Given the description of an element on the screen output the (x, y) to click on. 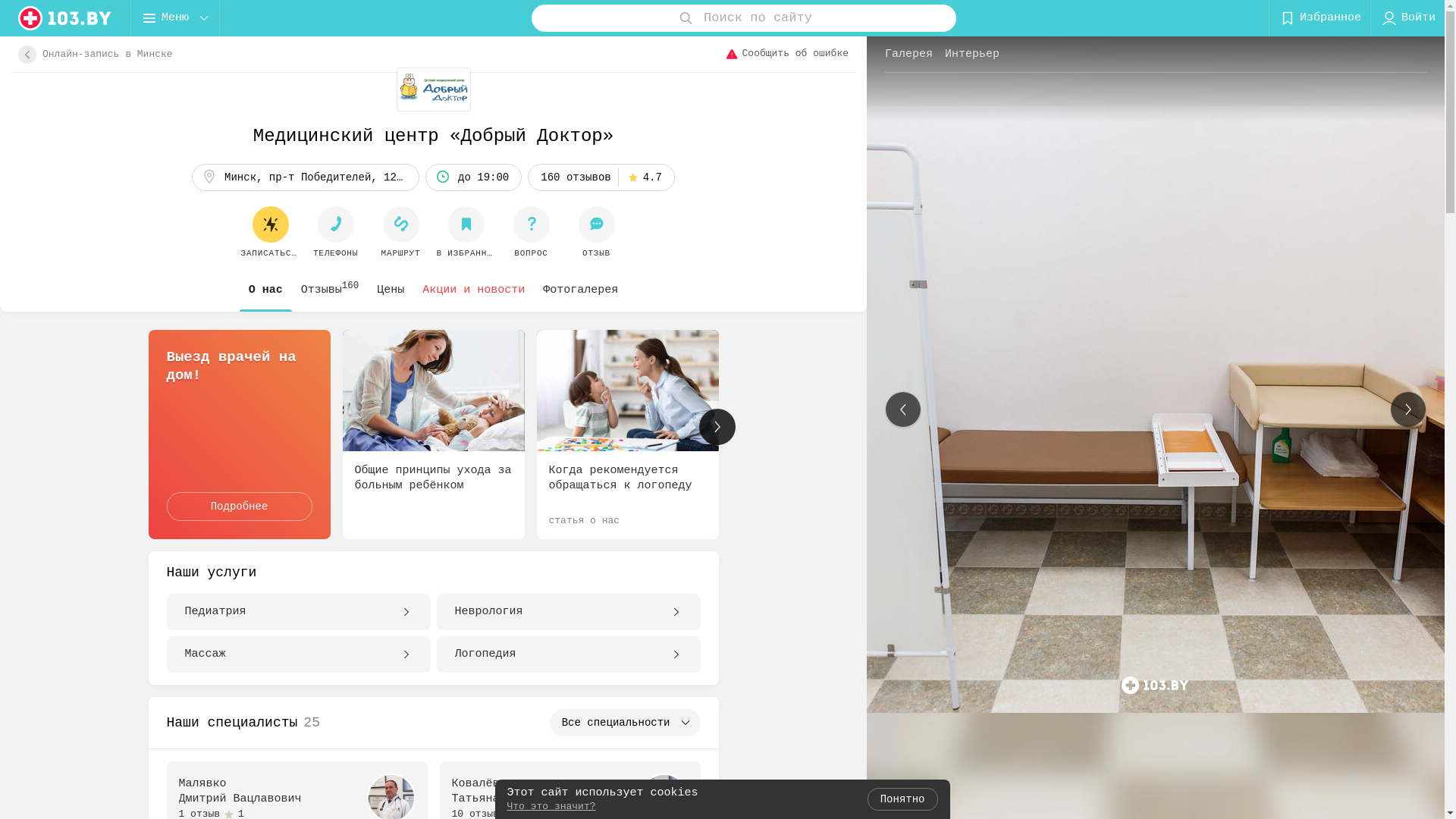
logo Element type: hover (65, 18)
